Given the description of an element on the screen output the (x, y) to click on. 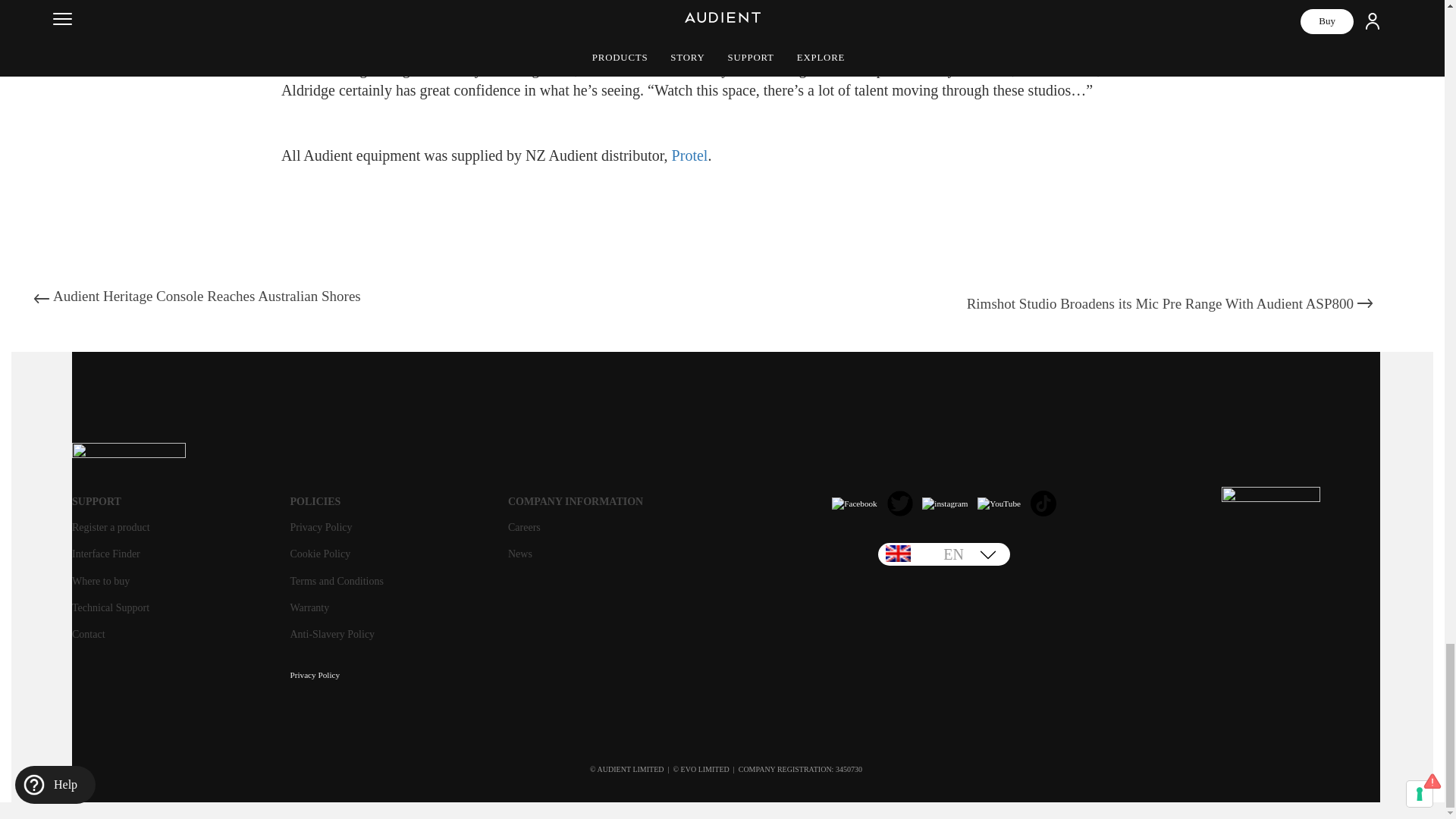
Privacy Policy (314, 669)
